Given the description of an element on the screen output the (x, y) to click on. 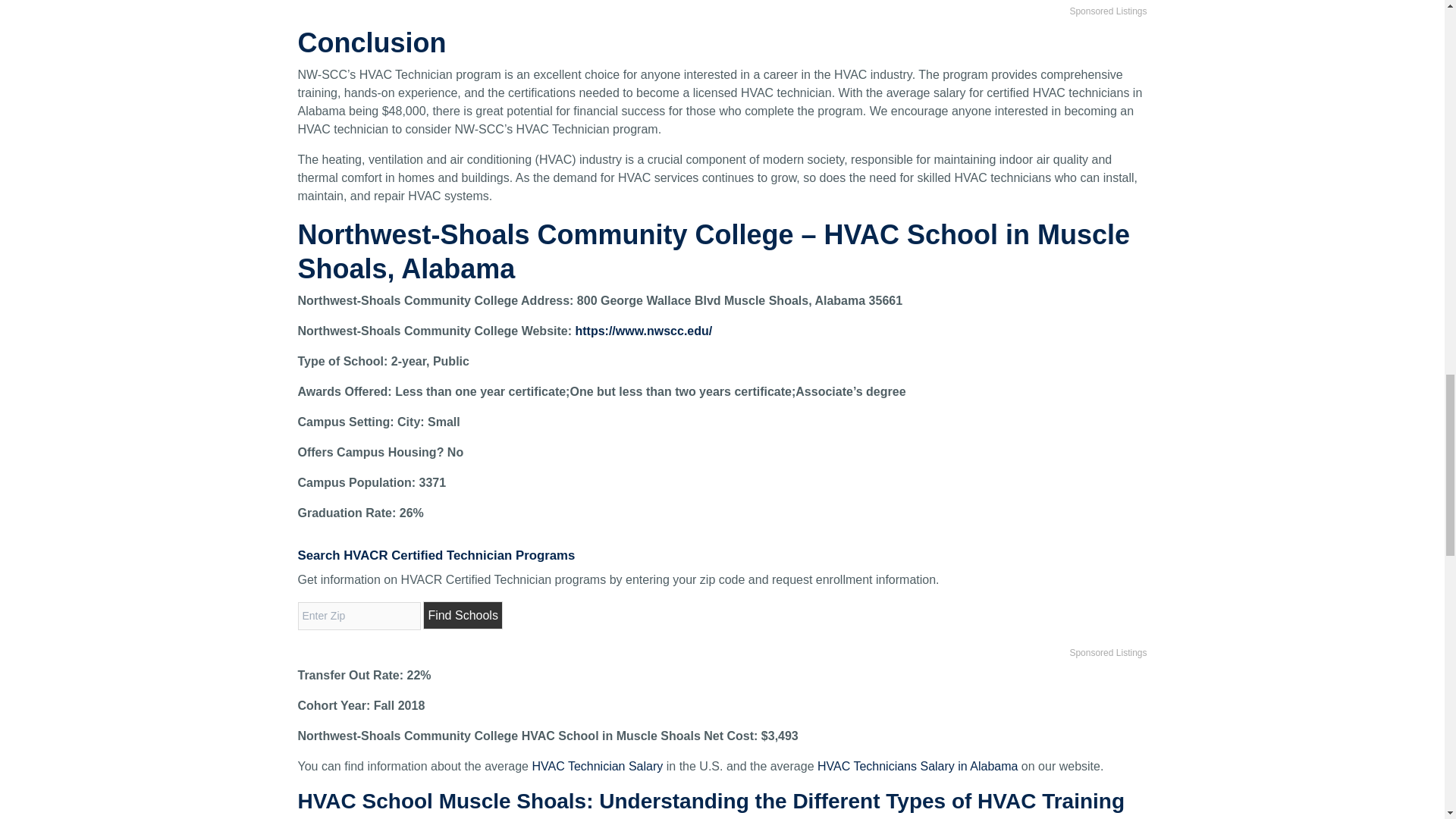
Find Schools (462, 615)
HVAC Technicians Salary in Alabama (916, 766)
HVAC Technician Salary (596, 766)
Find Schools (462, 615)
